Given the description of an element on the screen output the (x, y) to click on. 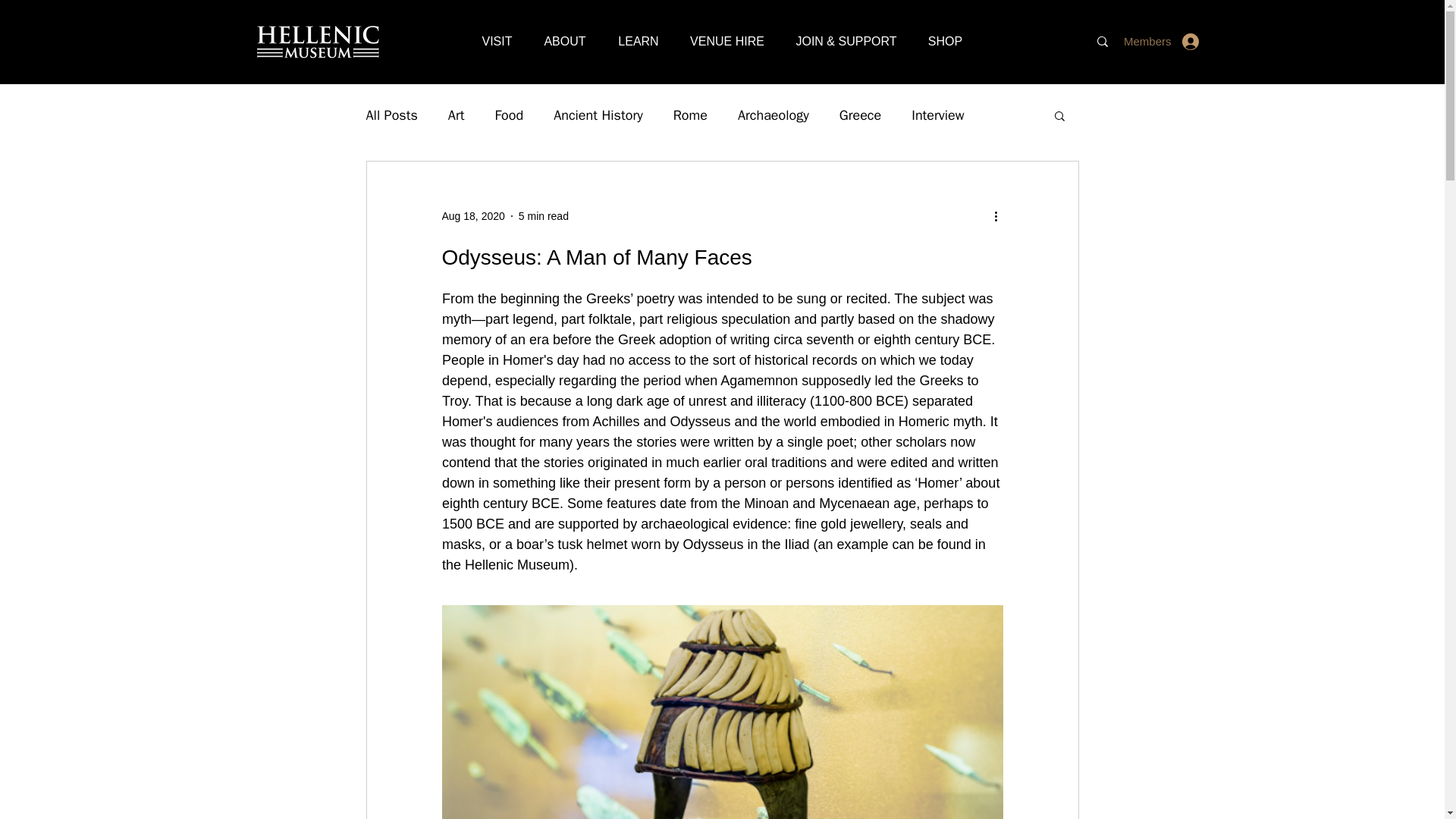
Food (508, 115)
Rome (689, 115)
Archaeology (773, 115)
5 min read (543, 215)
SHOP (945, 41)
Interview (937, 115)
Ancient History (598, 115)
Greece (860, 115)
Members (1178, 41)
VENUE HIRE (727, 41)
All Posts (390, 115)
Aug 18, 2020 (472, 215)
Art (456, 115)
